Given the description of an element on the screen output the (x, y) to click on. 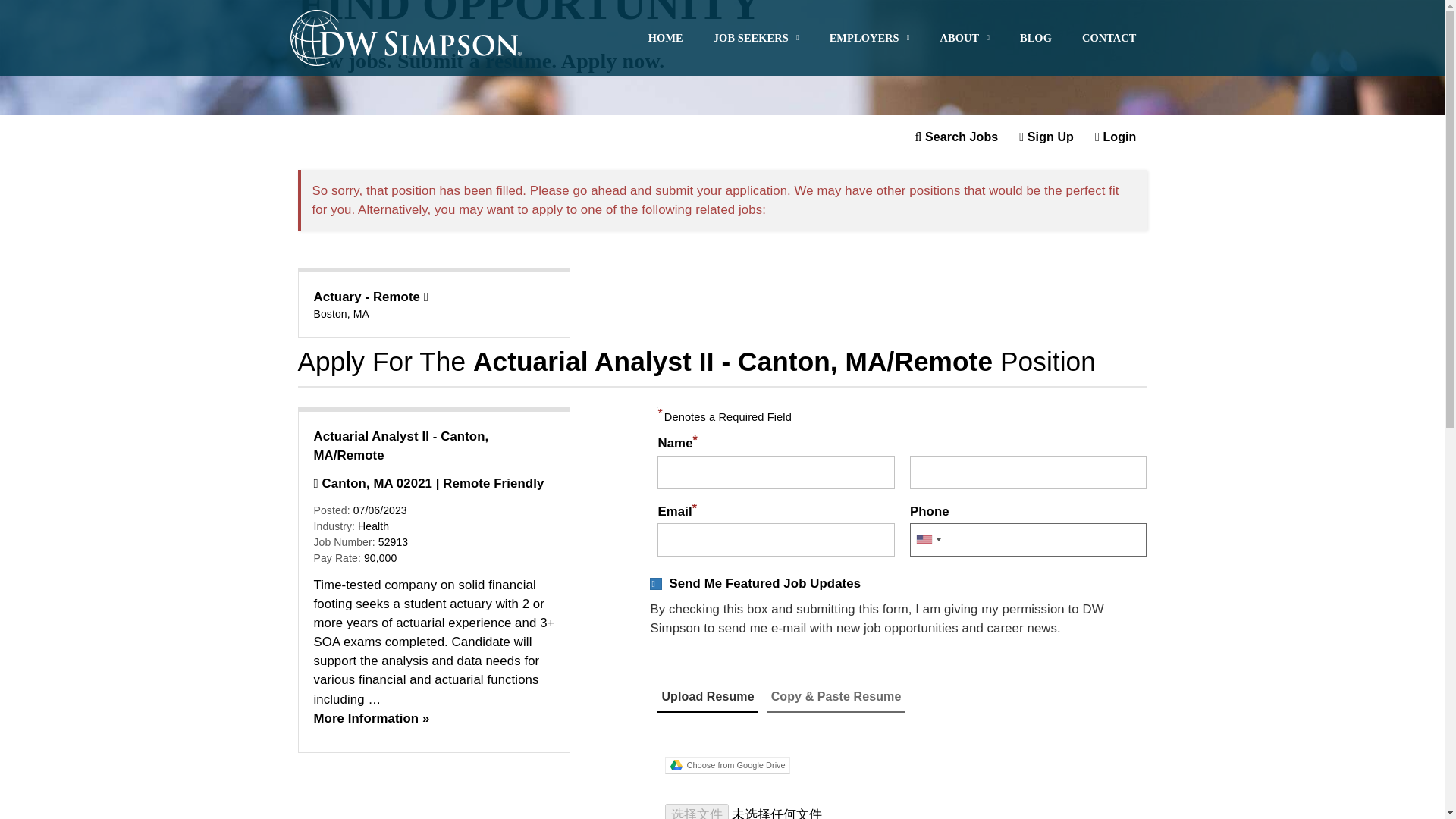
EMPLOYERS (868, 20)
BLOG (1035, 33)
ABOUT (964, 28)
CONTACT (1109, 34)
JOB SEEKERS (755, 7)
Choose from Drop Box (901, 737)
HOME (665, 5)
